Given the description of an element on the screen output the (x, y) to click on. 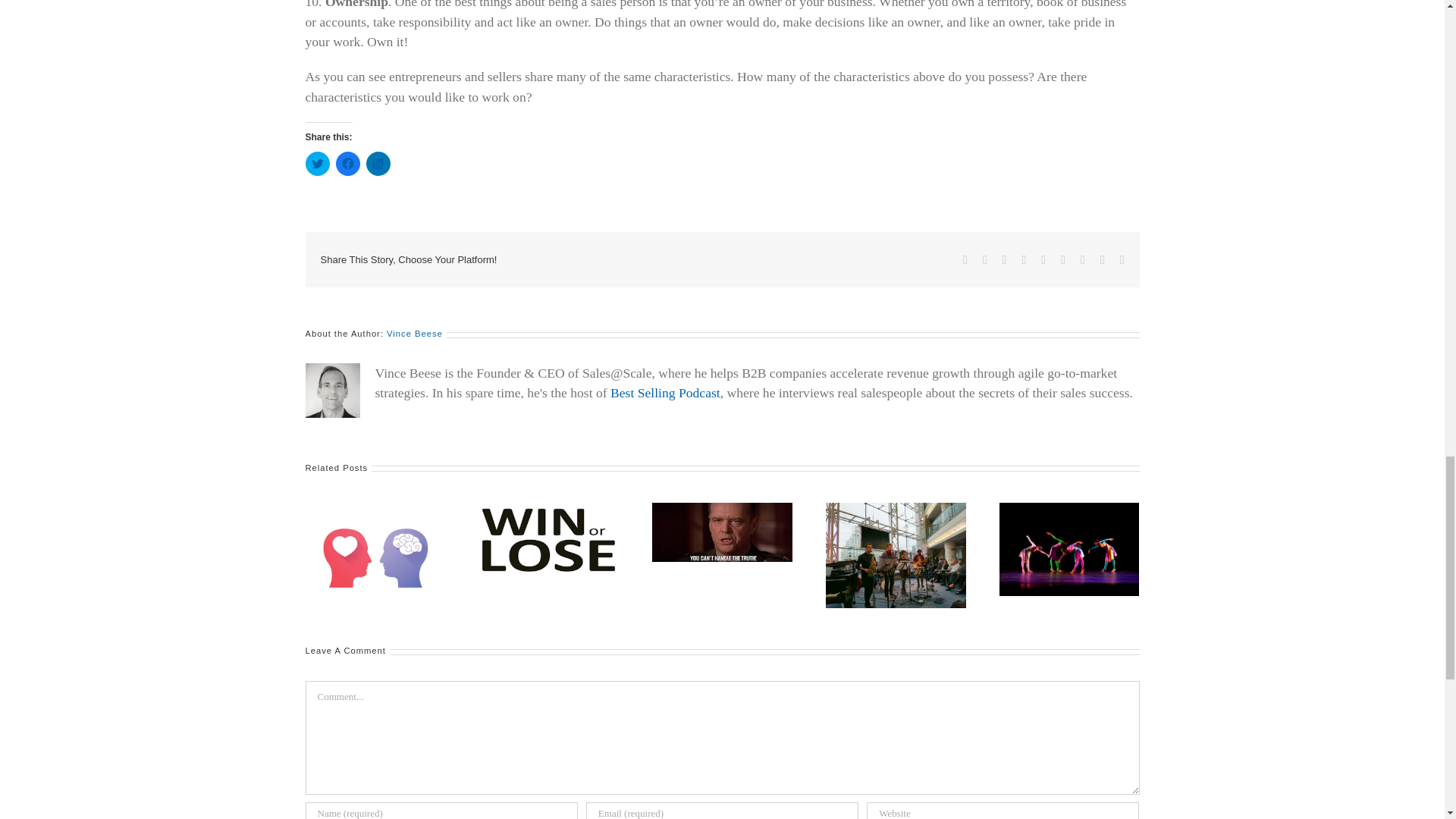
Click to share on Twitter (316, 163)
Click to share on LinkedIn (377, 163)
Click to share on Facebook (346, 163)
